Given the description of an element on the screen output the (x, y) to click on. 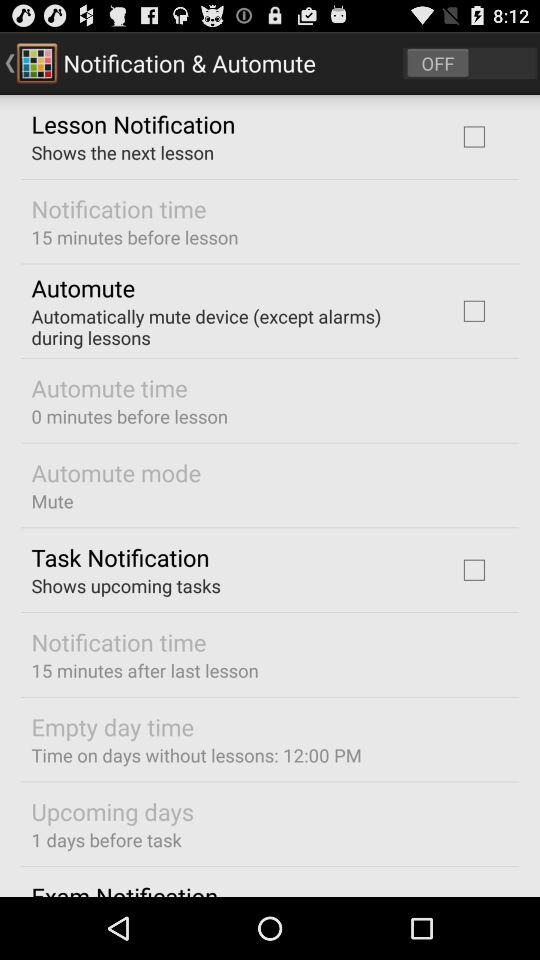
turn off the app below 1 days before (124, 888)
